Given the description of an element on the screen output the (x, y) to click on. 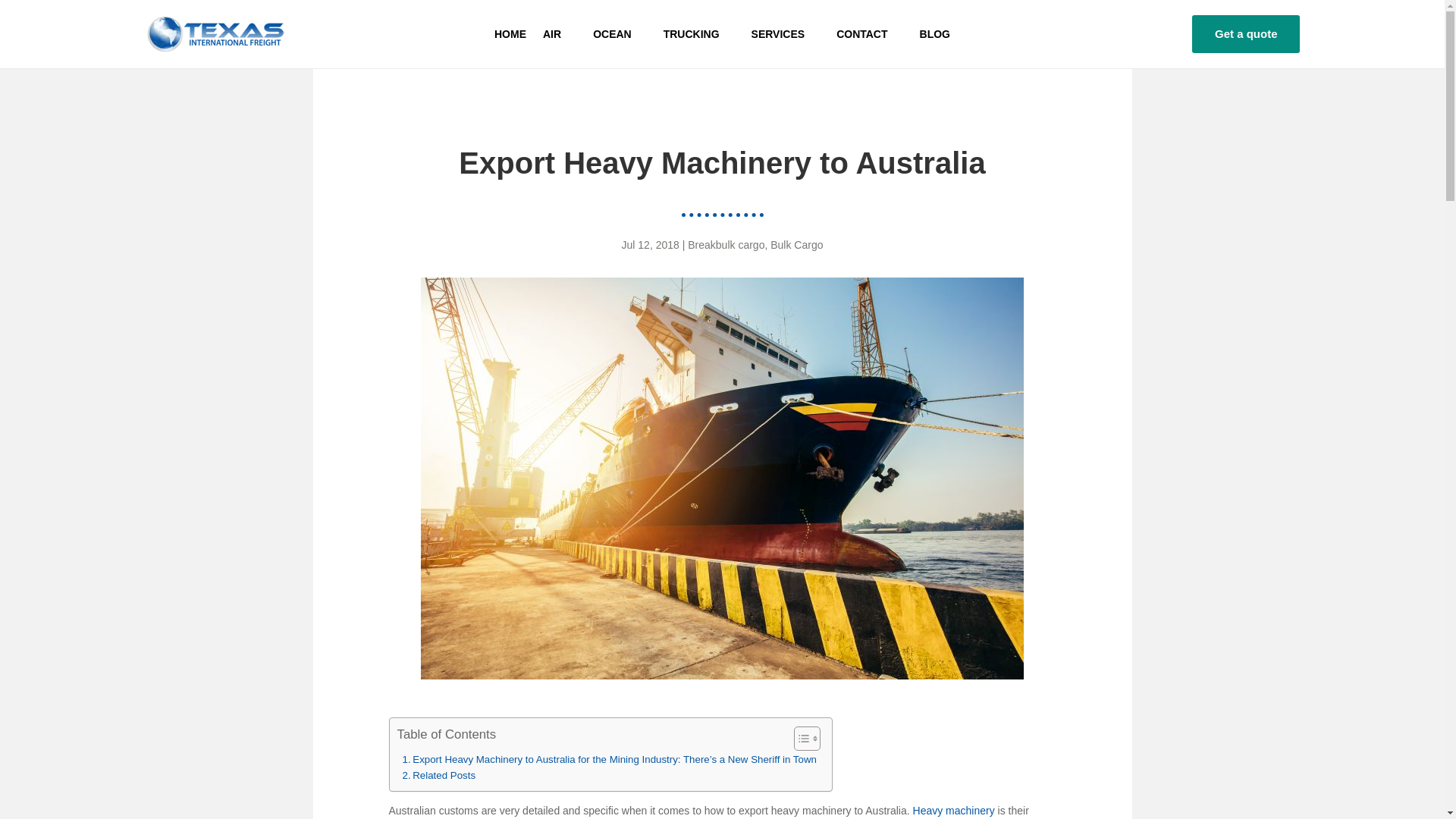
AIR (559, 36)
Ocean Freight (619, 36)
TRUCKING (699, 36)
HOME (510, 36)
SERVICES (786, 36)
Related Posts (438, 774)
Trucking Freight (699, 36)
OCEAN (619, 36)
BLOG (935, 36)
CONTACT (868, 36)
